Given the description of an element on the screen output the (x, y) to click on. 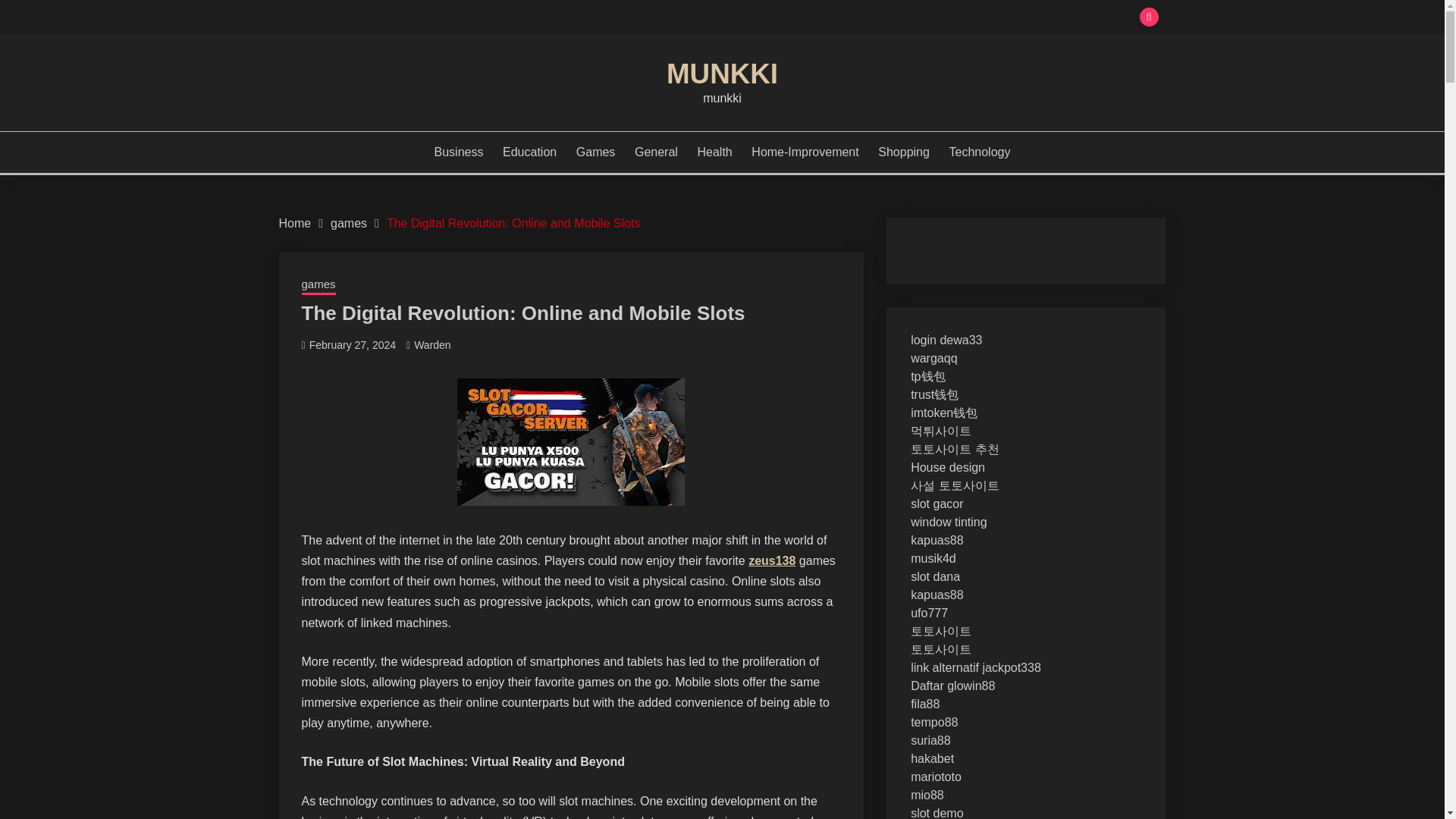
Home (295, 223)
Search (832, 18)
games (318, 285)
Education (529, 152)
MUNKKI (721, 73)
Business (458, 152)
login dewa33 (946, 339)
Health (714, 152)
zeus138 (771, 560)
games (348, 223)
Home-Improvement (805, 152)
wargaqq (933, 358)
Technology (979, 152)
The Digital Revolution: Online and Mobile Slots (513, 223)
Shopping (903, 152)
